Given the description of an element on the screen output the (x, y) to click on. 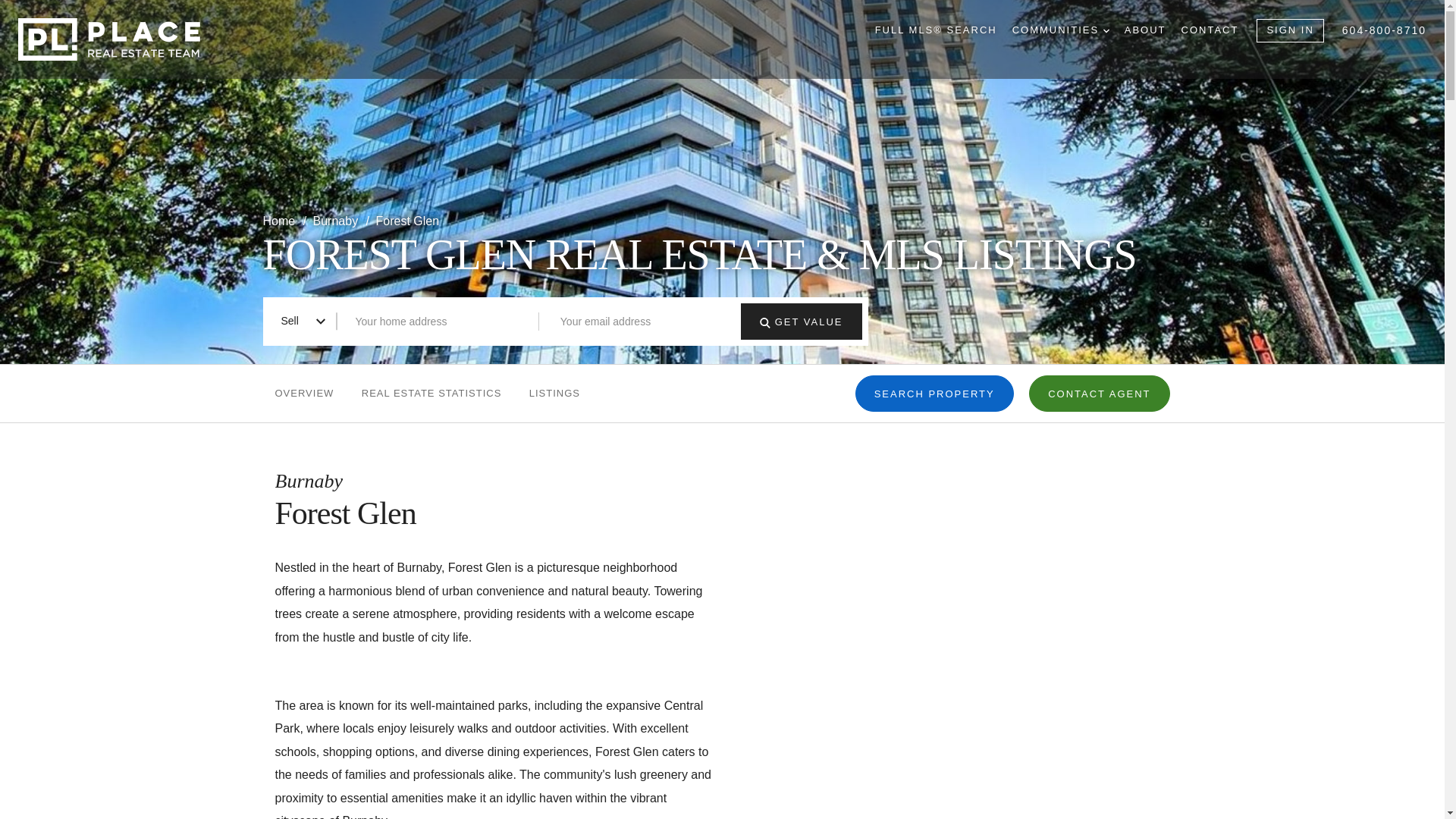
ABOUT (1145, 30)
SIGN IN (1289, 30)
Sell (301, 321)
Burnaby (337, 220)
DROPDOWN ARROW (1106, 30)
604-800-8710 (1384, 29)
Home (280, 220)
Forest Glen (407, 220)
CONTACT (1209, 30)
Get value (765, 322)
COMMUNITIES DROPDOWN ARROW (1060, 30)
